Given the description of an element on the screen output the (x, y) to click on. 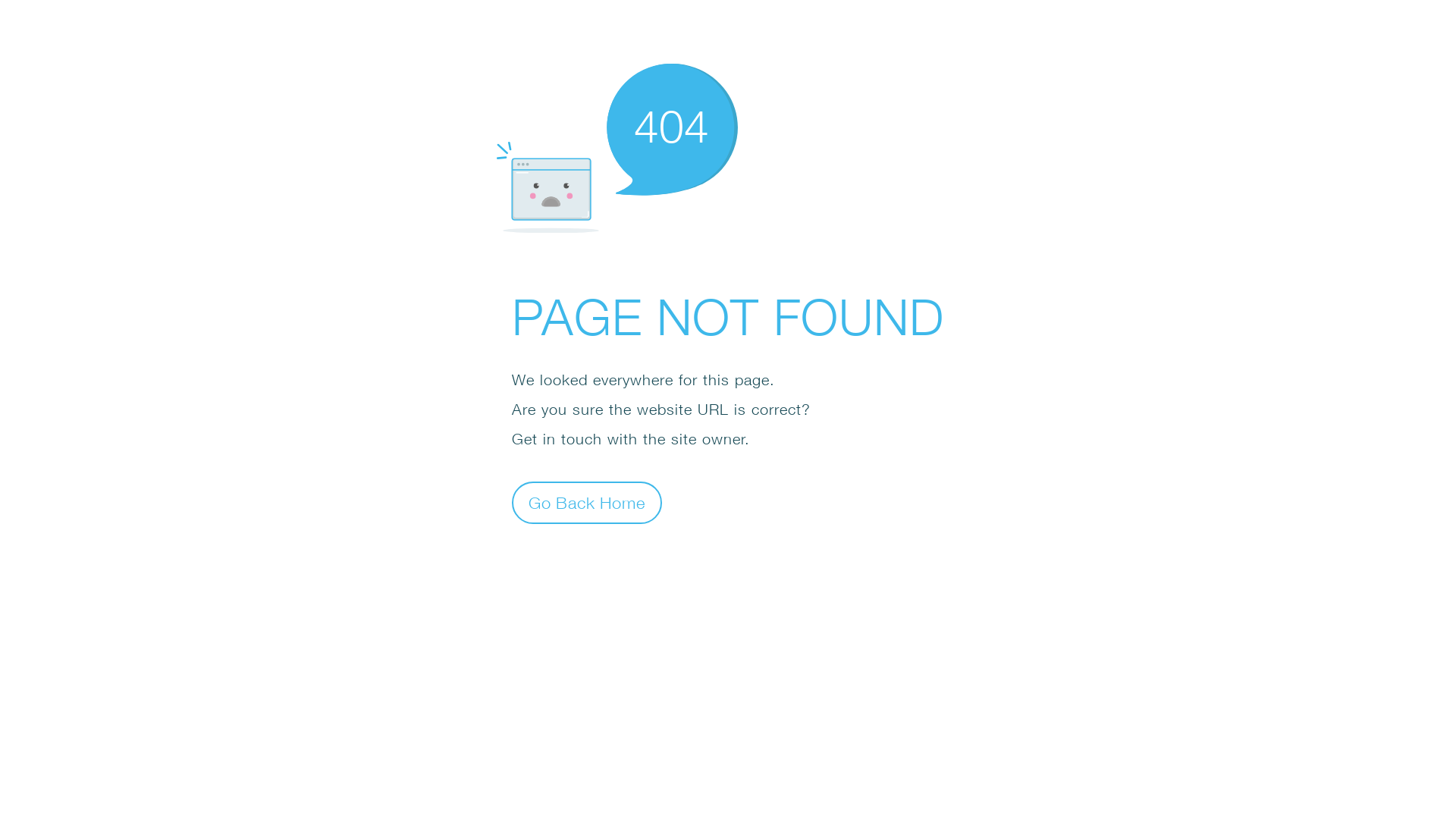
Go Back Home Element type: text (586, 502)
